Given the description of an element on the screen output the (x, y) to click on. 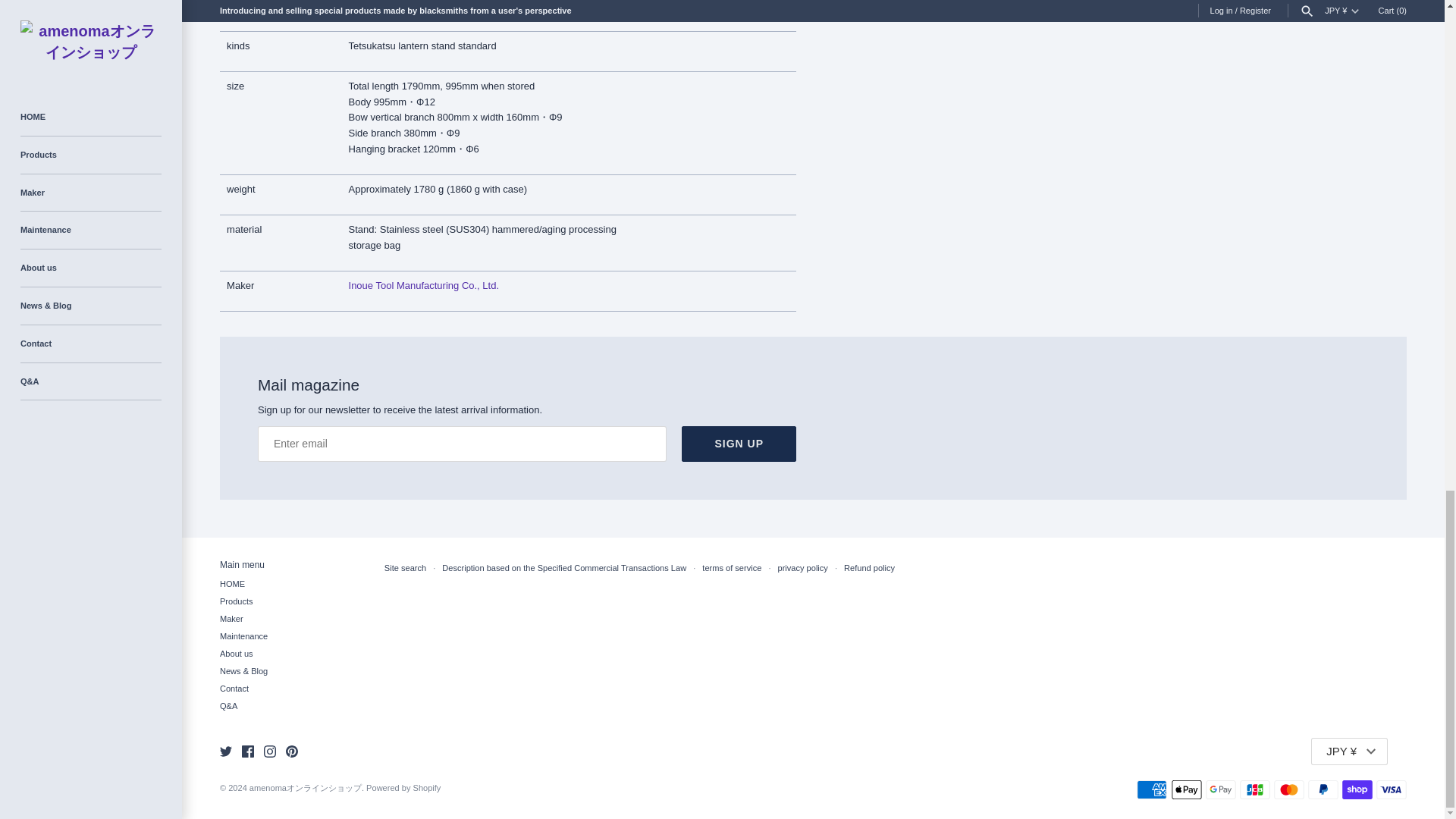
American Express (1152, 789)
Instagram (269, 751)
Pinterest (291, 751)
Shop Pay (1357, 789)
Apple Pay (1187, 789)
Visa (1390, 789)
Google Pay (1220, 789)
Twitter (225, 751)
Facebook (247, 751)
Mastercard (1289, 789)
